Given the description of an element on the screen output the (x, y) to click on. 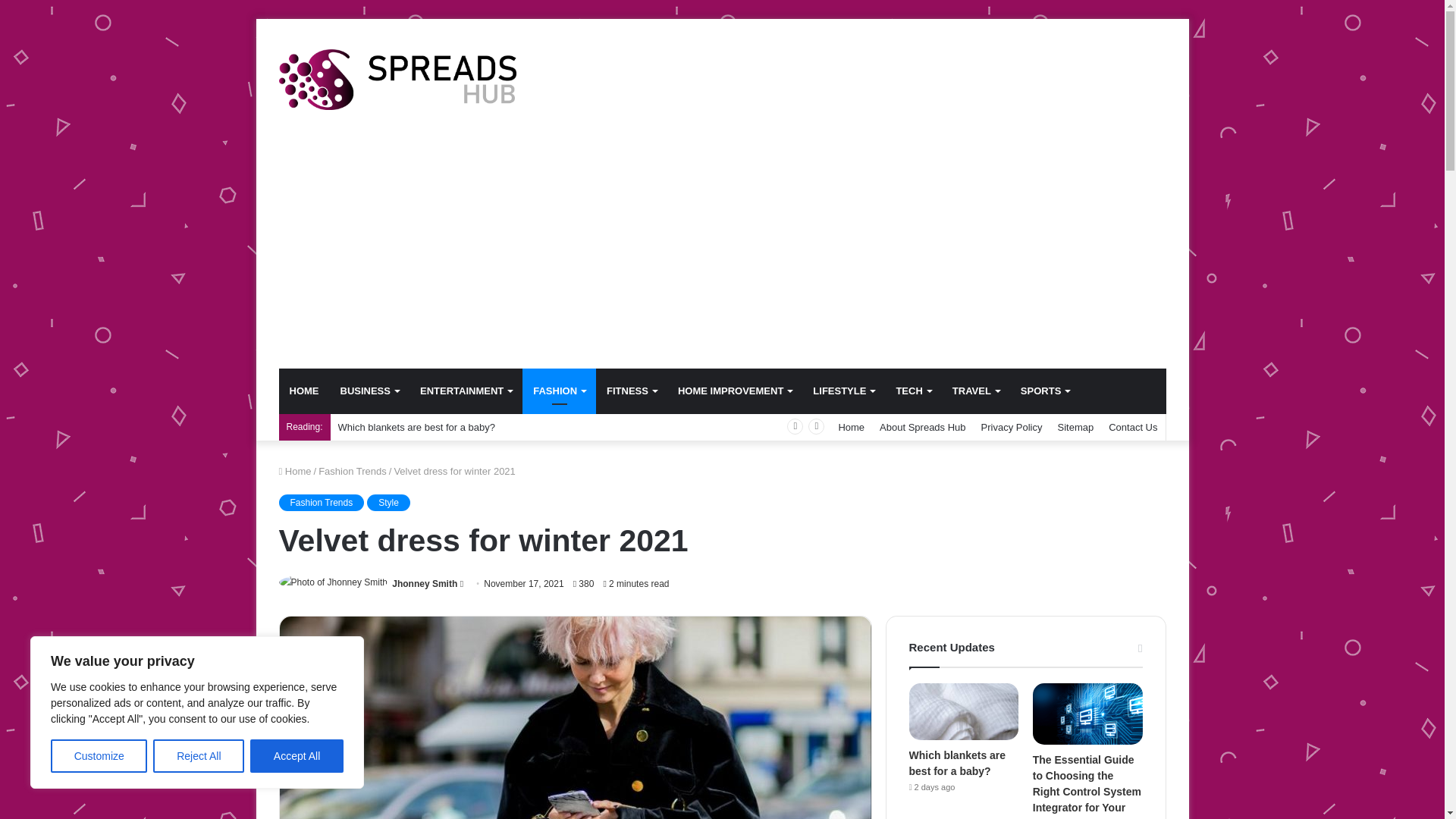
ENTERTAINMENT (465, 391)
Jhonney Smith (424, 583)
Spreads Hub (397, 79)
Accept All (296, 756)
Reject All (198, 756)
FASHION (558, 391)
FITNESS (630, 391)
HOME IMPROVEMENT (734, 391)
BUSINESS (369, 391)
HOME (304, 391)
Customize (98, 756)
